Given the description of an element on the screen output the (x, y) to click on. 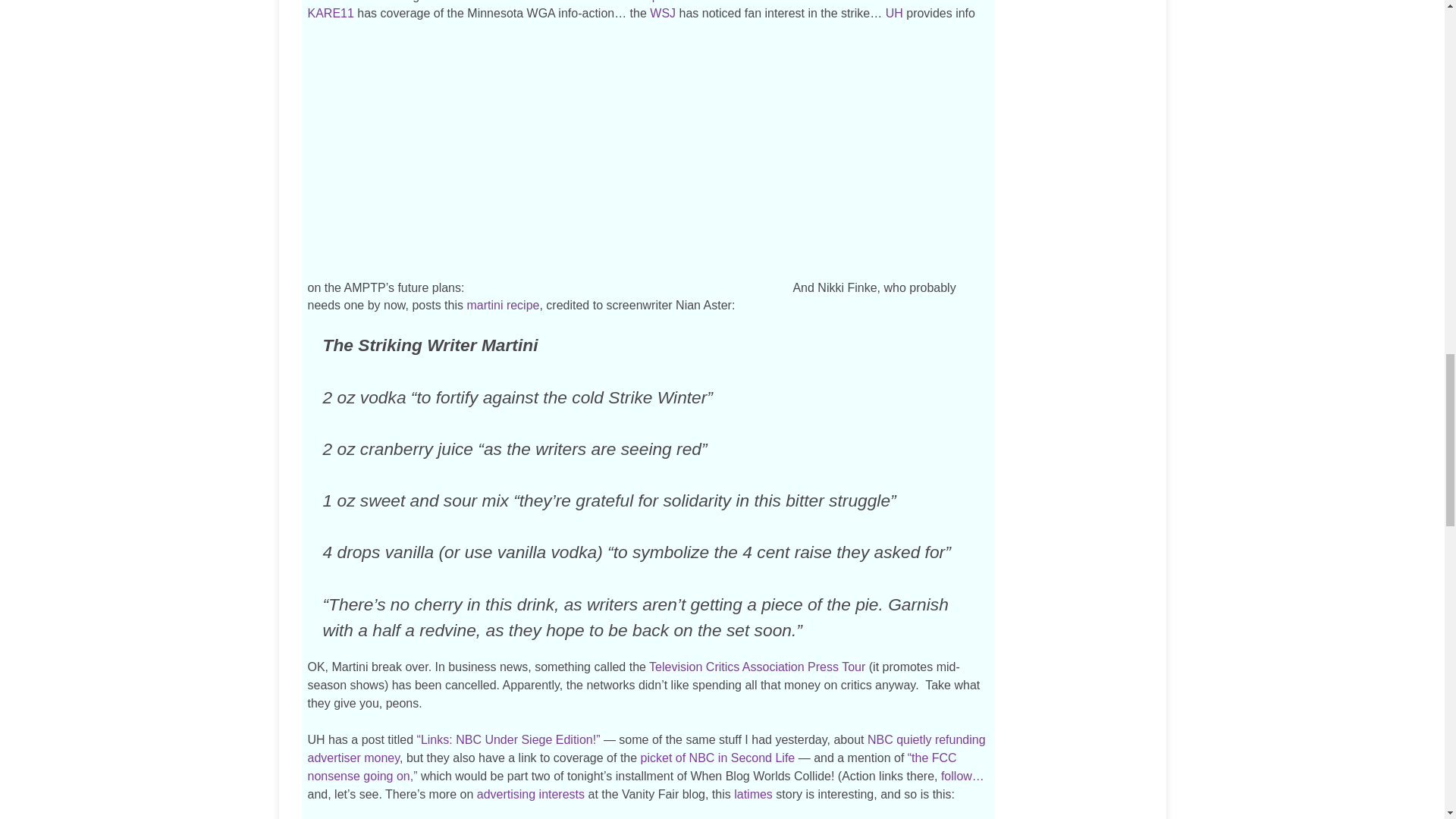
Press Tour (836, 666)
picket of NBC in Second Life (717, 757)
trekweb (328, 1)
UH (825, 1)
WSJ (662, 12)
Association (773, 666)
pencils (671, 1)
martini recipe (501, 305)
KARE11 (330, 12)
nonsense (333, 775)
